Given the description of an element on the screen output the (x, y) to click on. 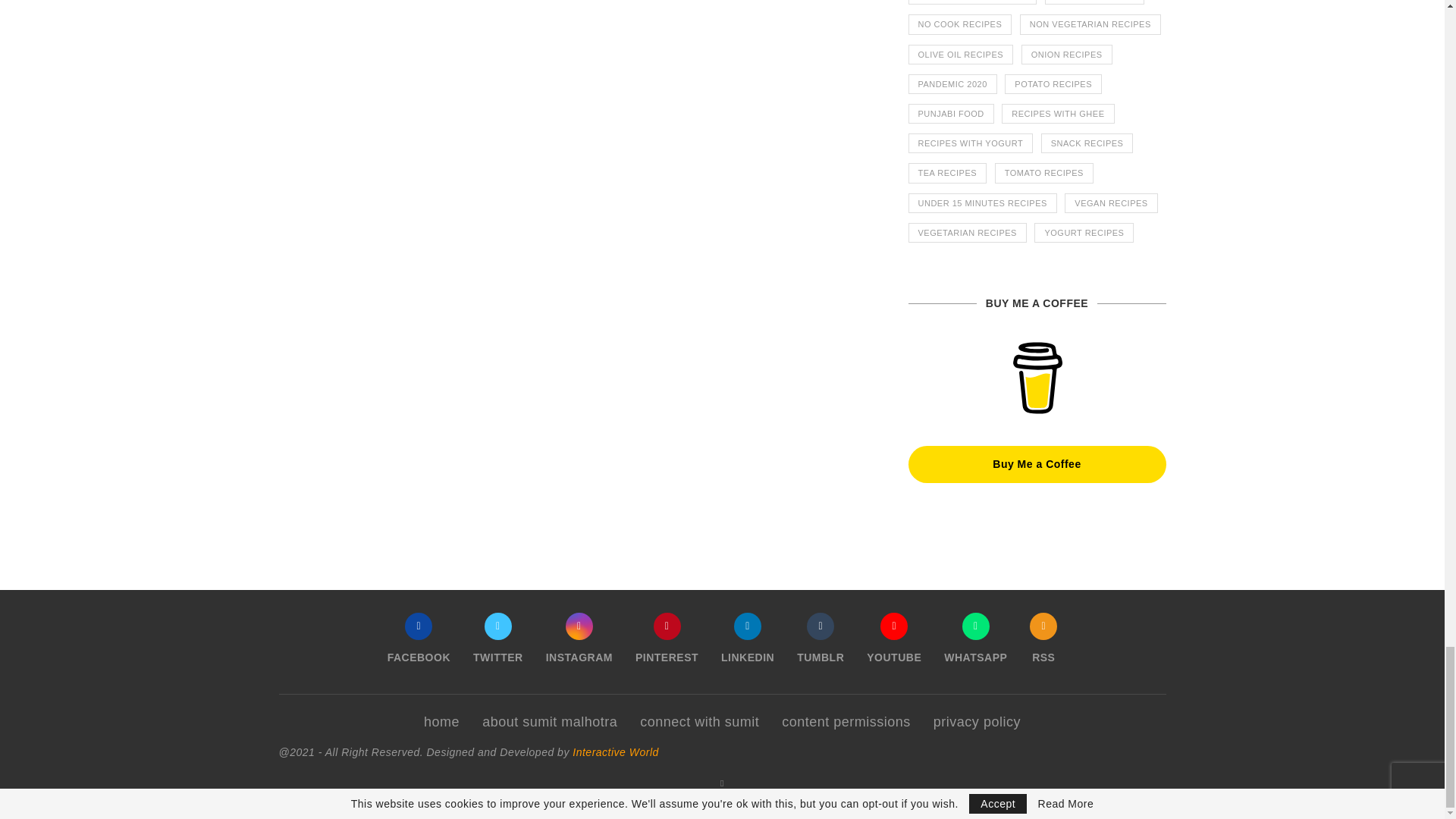
Buy Me a Coffee (1037, 378)
